Given the description of an element on the screen output the (x, y) to click on. 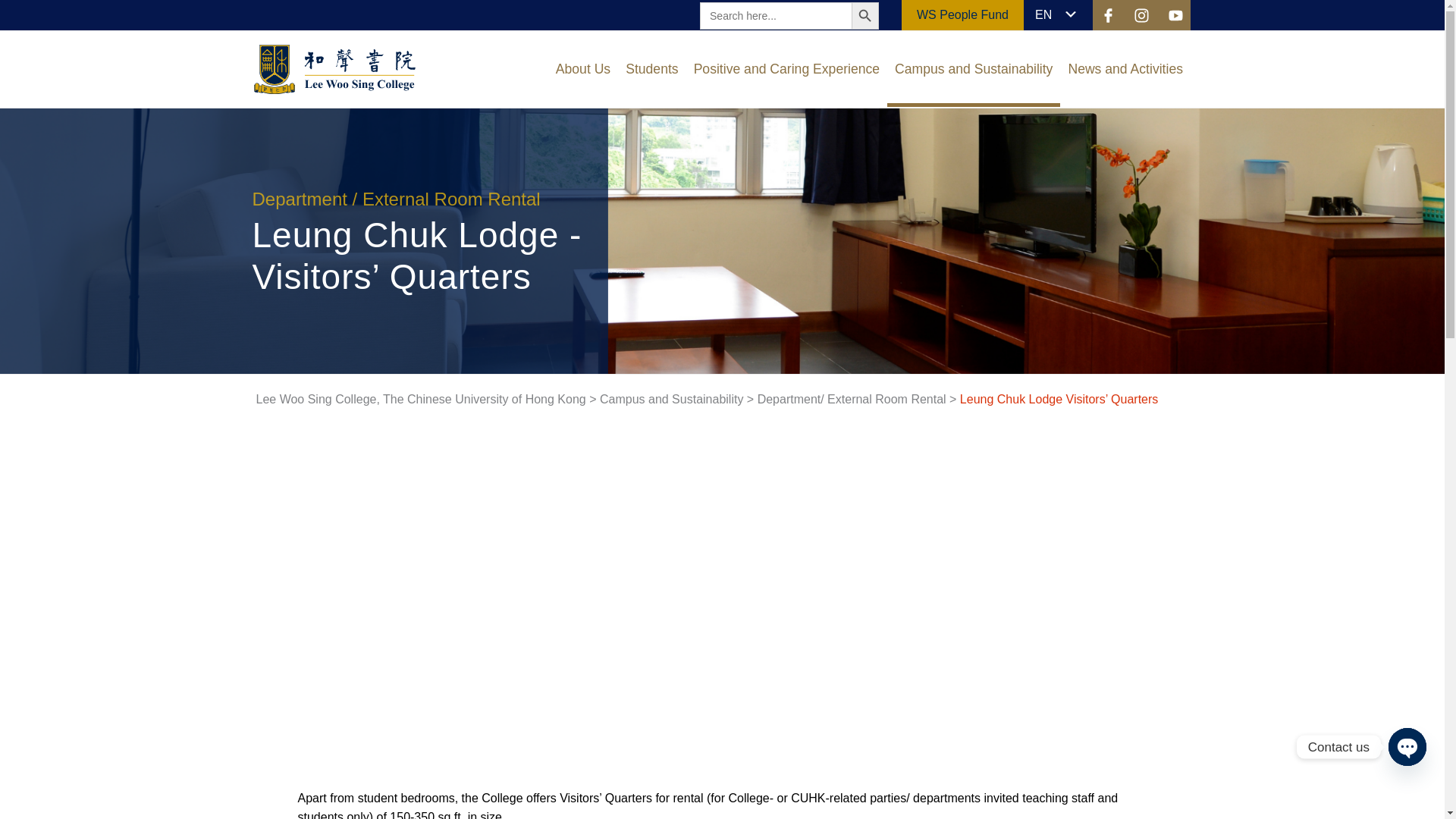
wso link (1175, 14)
WS People Fund (963, 14)
Lee Woo Sing College, The Chinese University of Hong Kong (333, 69)
ig (1141, 15)
About Us (582, 69)
youtube (1174, 15)
Search Button (865, 15)
About Us (582, 69)
facebook (1107, 15)
WS People Fund (963, 14)
Students (651, 69)
wso link (333, 89)
wso link (1109, 14)
wso link (1143, 14)
